Given the description of an element on the screen output the (x, y) to click on. 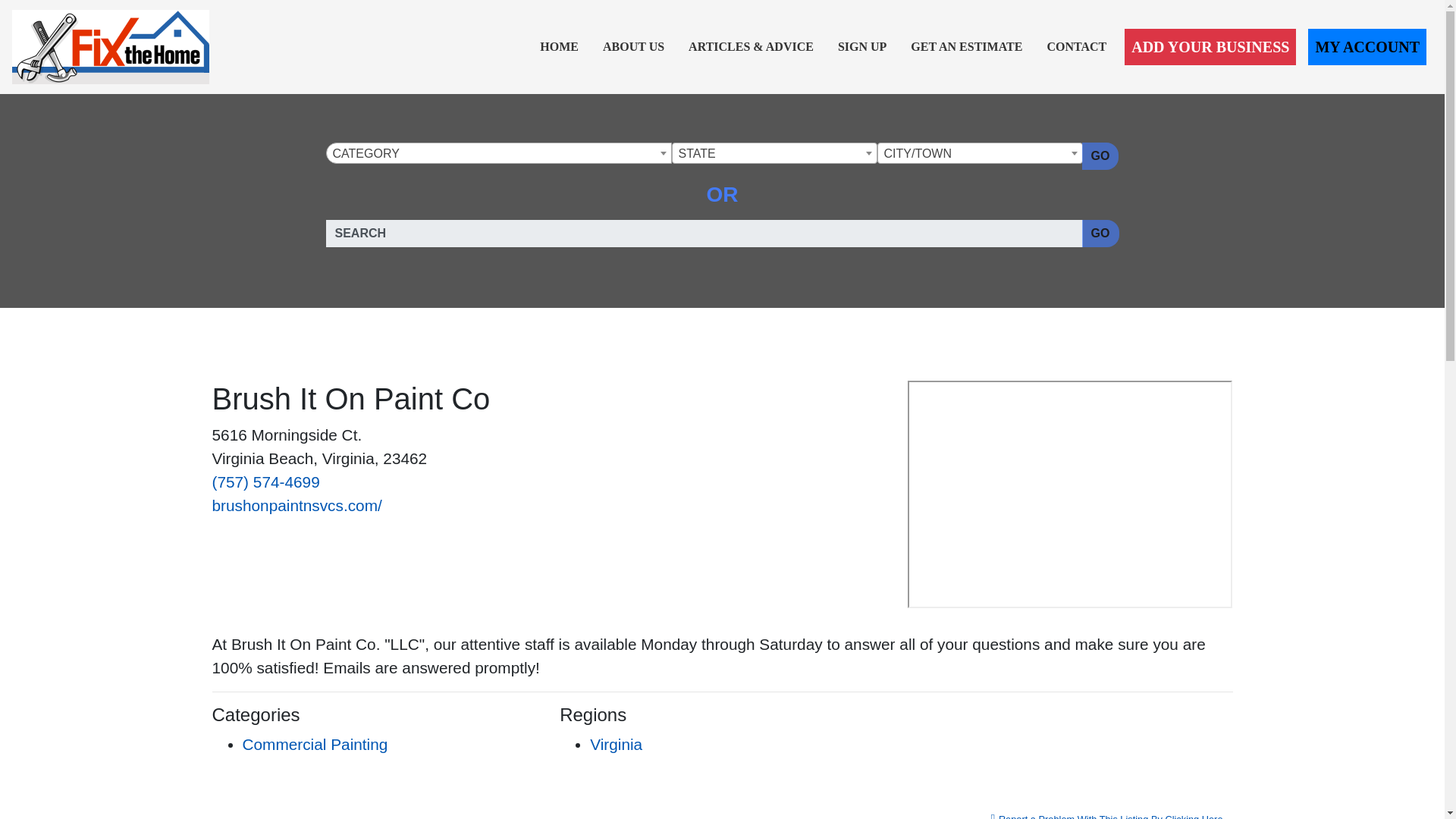
Report a Problem With This Listing By Clicking Here (1107, 811)
GO (1100, 233)
ABOUT US (632, 46)
ADD YOUR BUSINESS (1209, 46)
Commercial Painting (315, 743)
Category (497, 153)
MY ACCOUNT (1366, 46)
HOME (559, 46)
Virginia (615, 743)
GO (1099, 155)
